Given the description of an element on the screen output the (x, y) to click on. 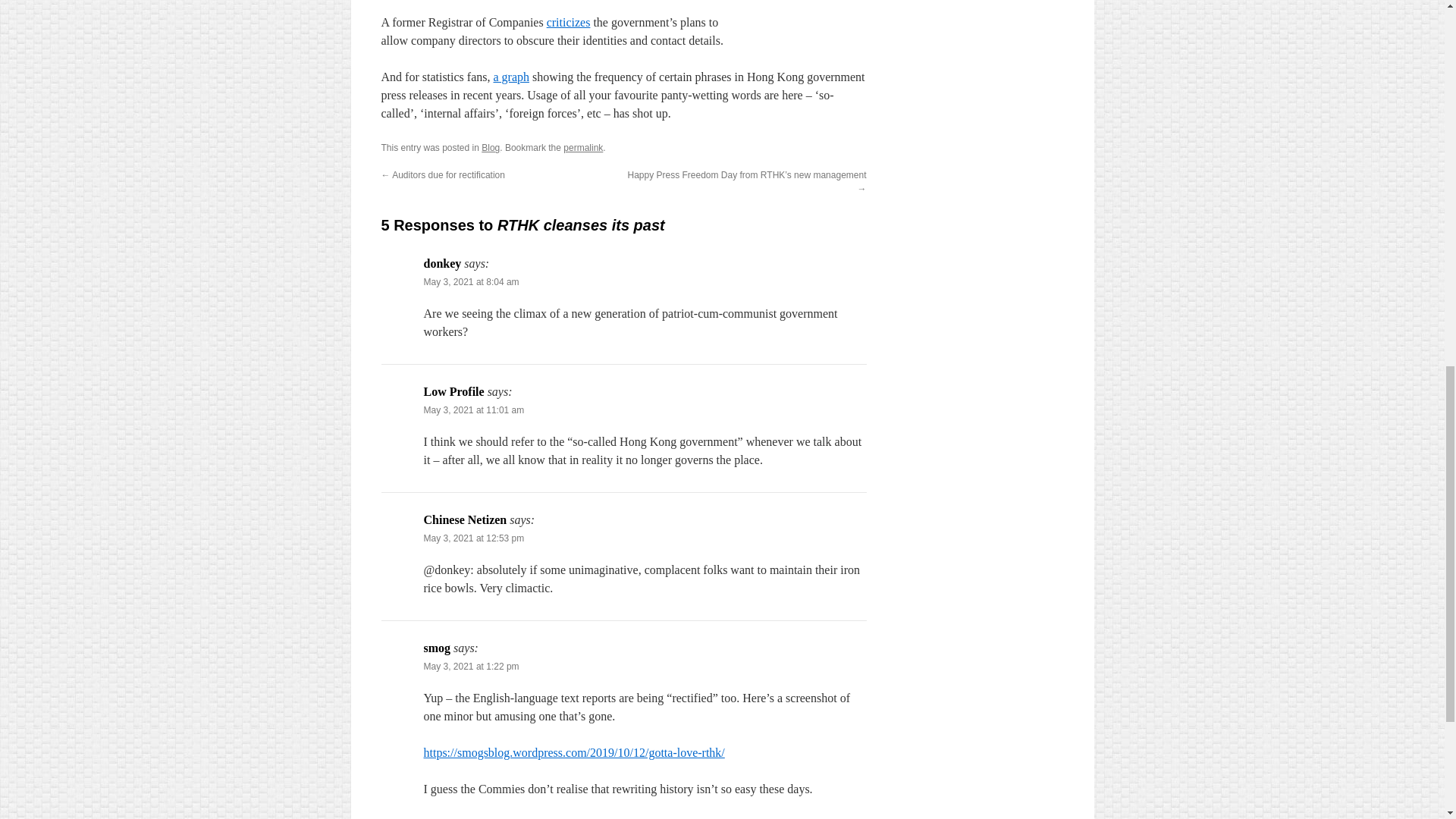
criticizes (569, 21)
May 3, 2021 at 8:04 am (470, 281)
permalink (582, 147)
Permalink to RTHK cleanses its past (582, 147)
a graph (511, 76)
Blog (490, 147)
May 3, 2021 at 12:53 pm (473, 538)
May 3, 2021 at 11:01 am (473, 409)
May 3, 2021 at 1:22 pm (470, 665)
